Given the description of an element on the screen output the (x, y) to click on. 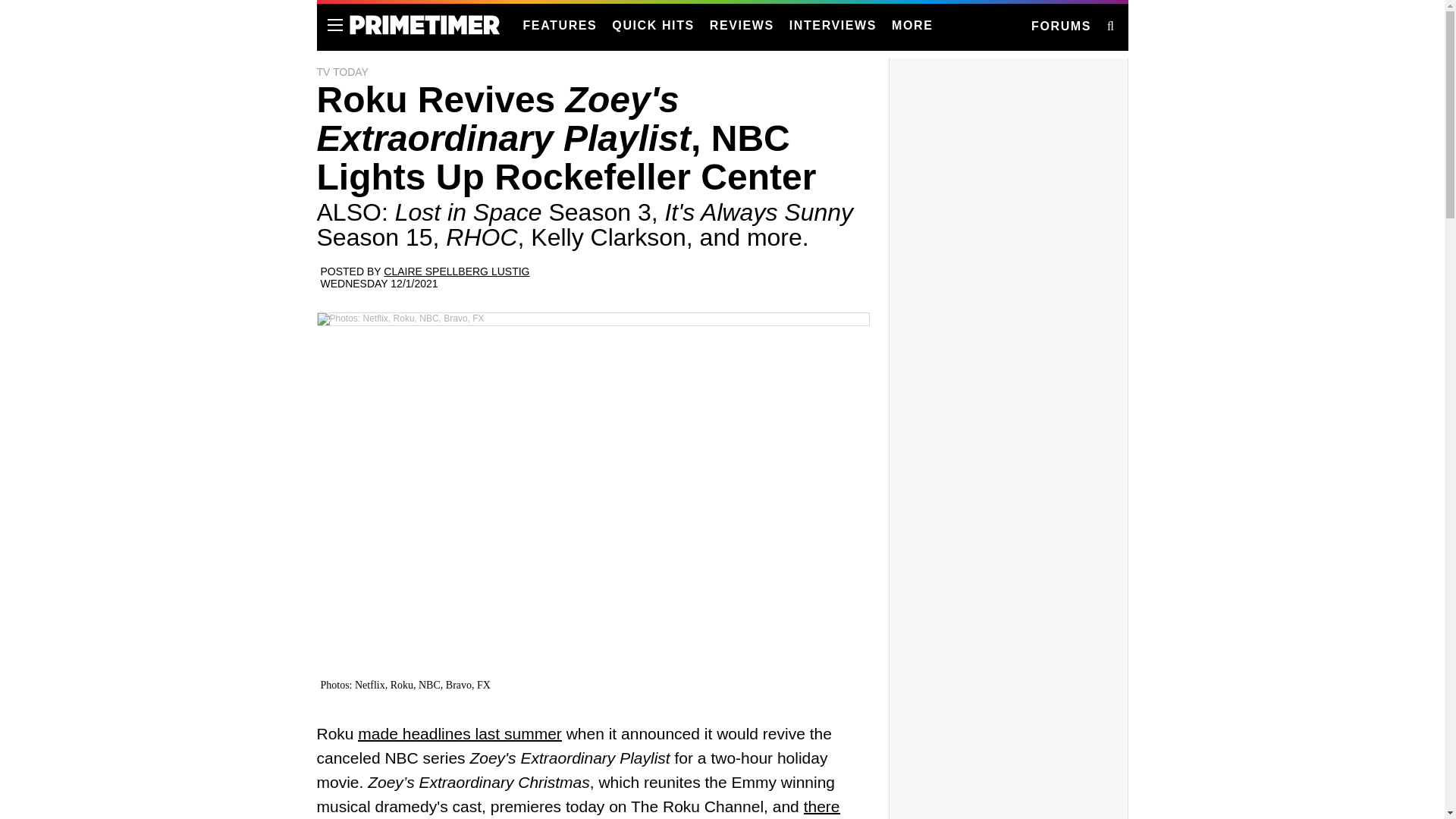
REVIEWS (742, 26)
CLAIRE SPELLBERG LUSTIG (456, 271)
made headlines last summer (459, 733)
FEATURES (559, 26)
INTERVIEWS (832, 26)
FORUMS (1060, 26)
QUICK HITS (652, 26)
there could be more Zoey on the way (578, 808)
MORE (912, 26)
